Given the description of an element on the screen output the (x, y) to click on. 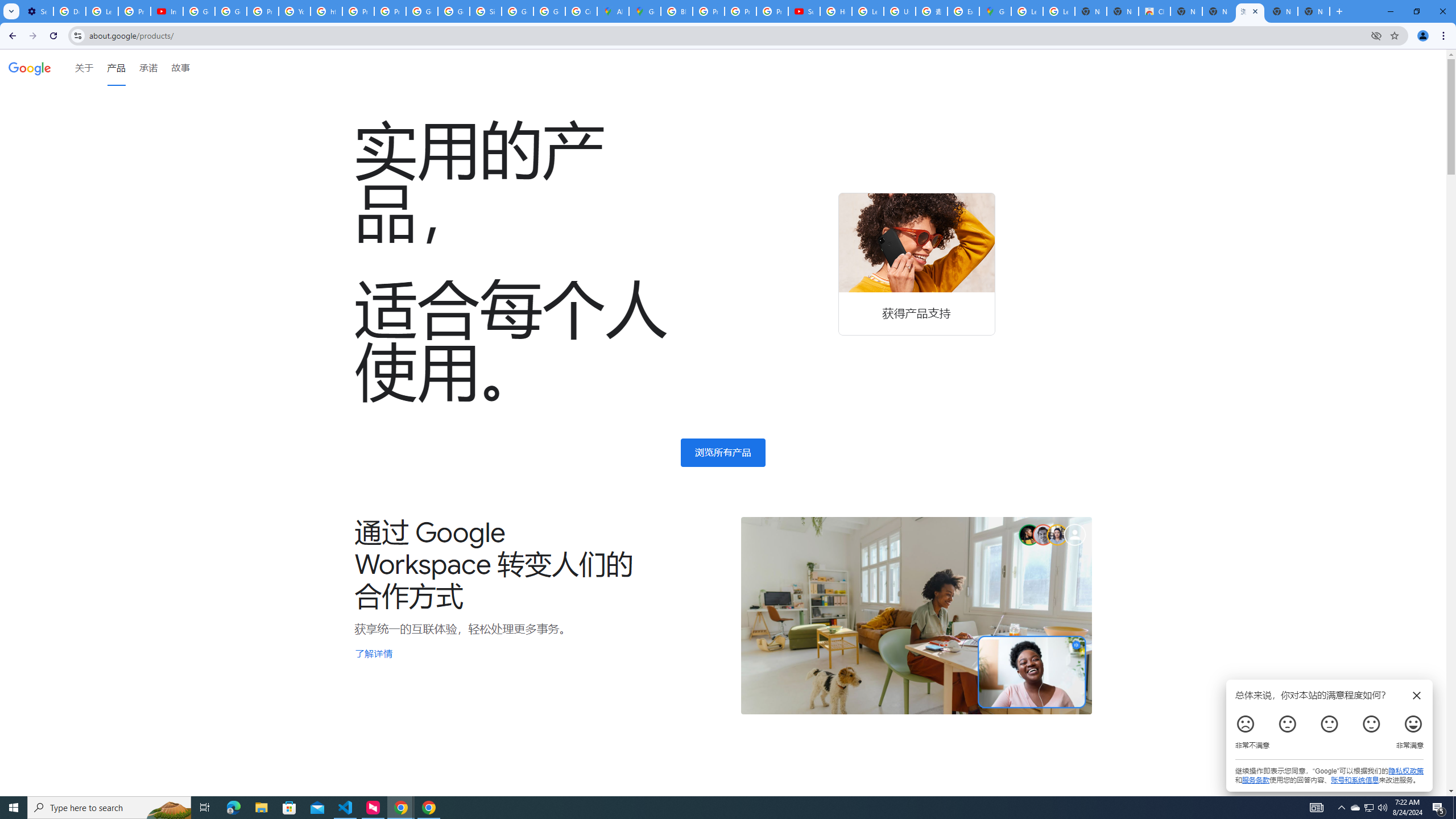
Sign in - Google Accounts (485, 11)
Chrome Web Store (1154, 11)
Privacy Help Center - Policies Help (358, 11)
Learn how to find your photos - Google Photos Help (101, 11)
Delete photos & videos - Computer - Google Photos Help (69, 11)
